Given the description of an element on the screen output the (x, y) to click on. 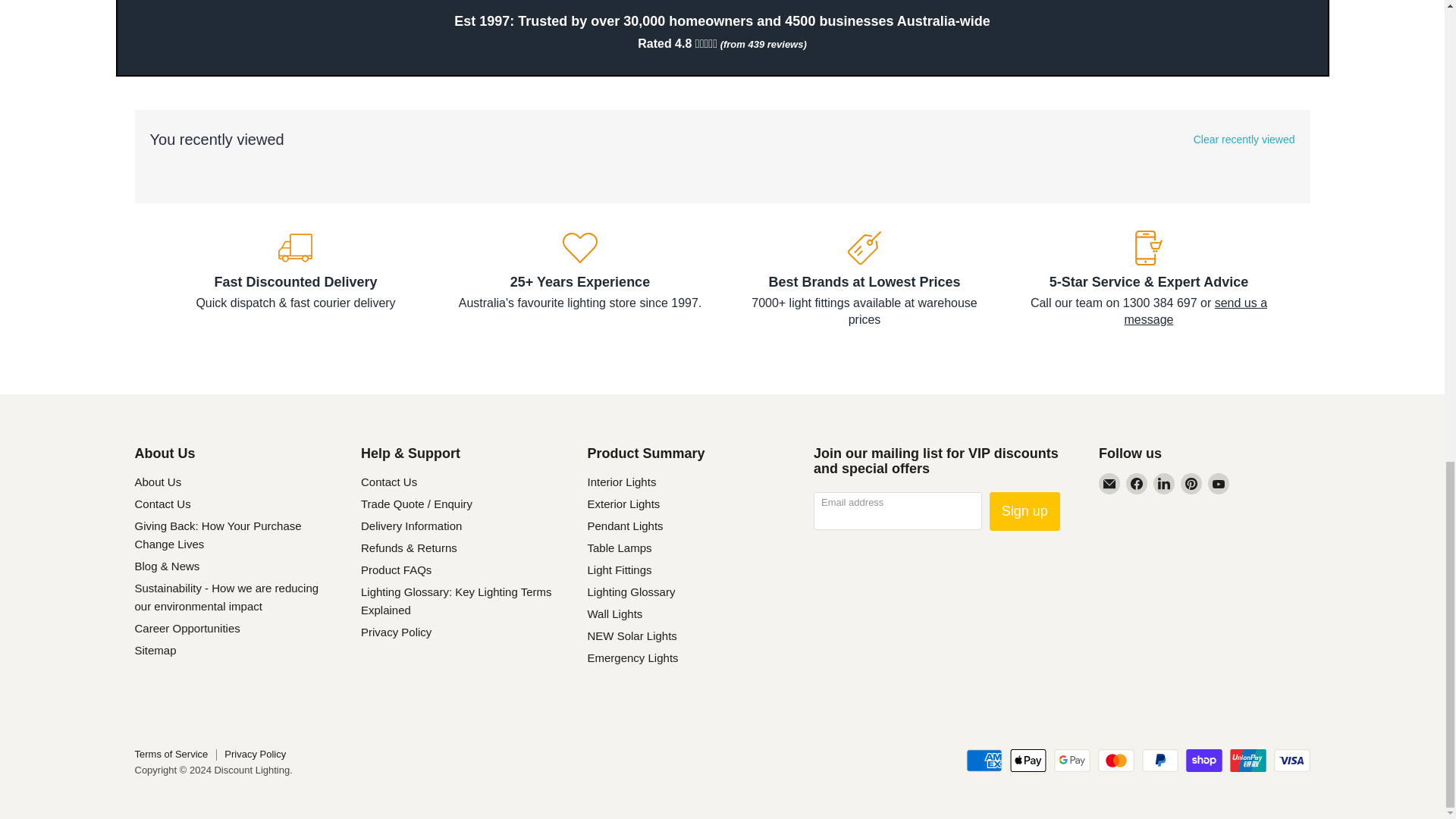
Email (1109, 483)
Pinterest (1191, 483)
YouTube (1218, 483)
LinkedIn (1163, 483)
Facebook (1136, 483)
